Given the description of an element on the screen output the (x, y) to click on. 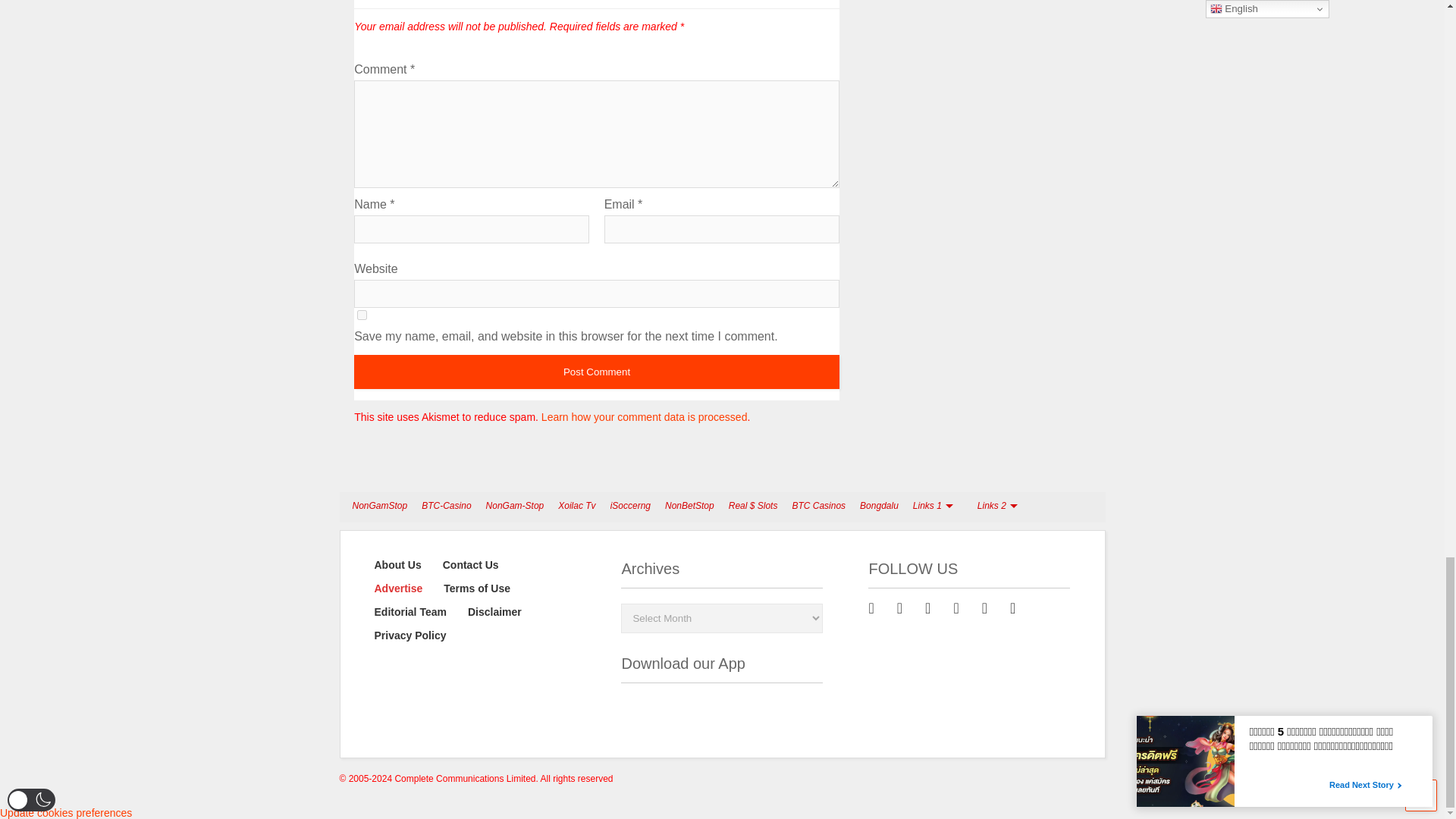
yes (361, 315)
Post Comment (596, 371)
